Given the description of an element on the screen output the (x, y) to click on. 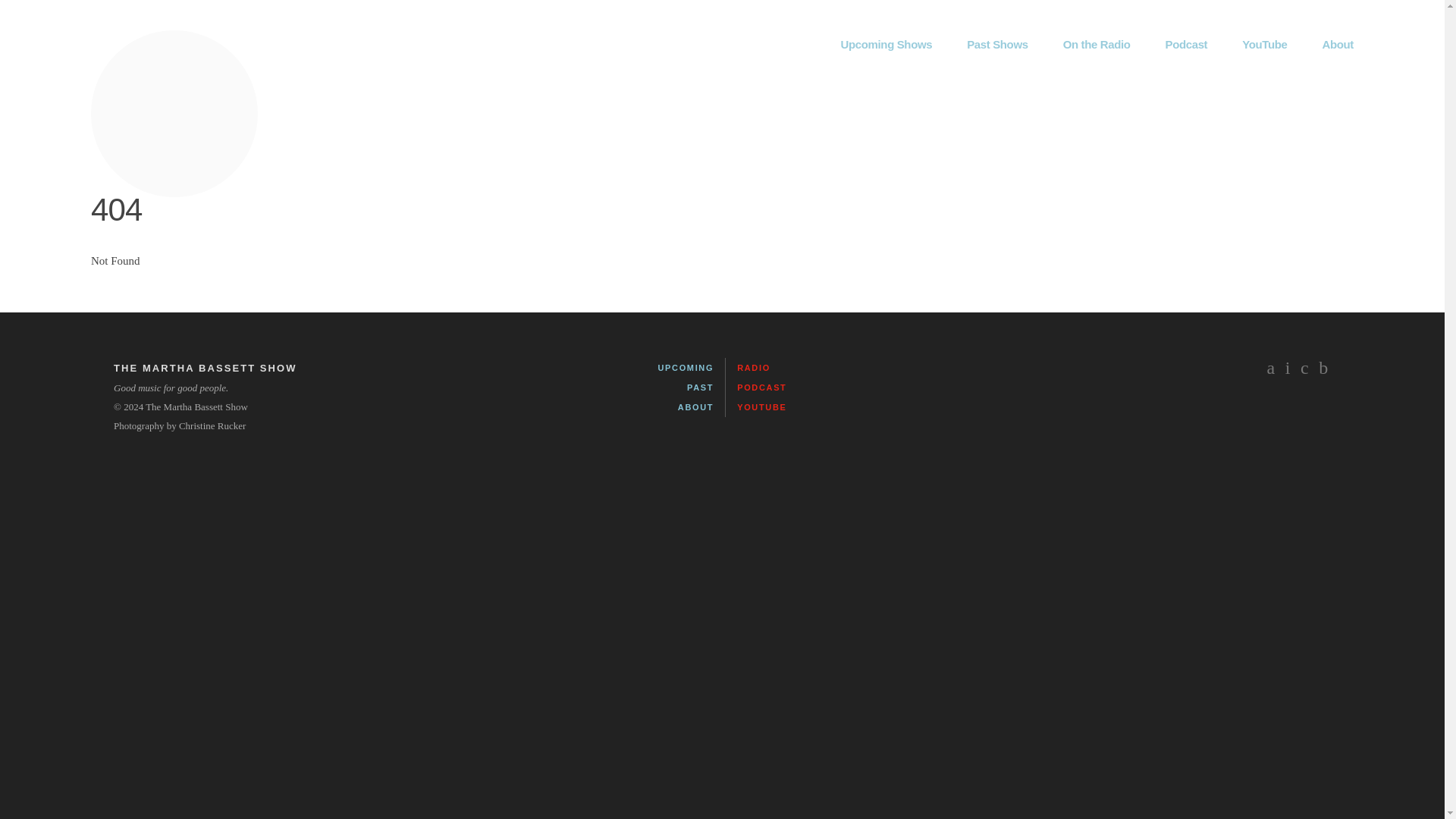
PAST (700, 387)
UPCOMING (685, 367)
PODCAST (761, 387)
ABOUT (695, 406)
On the Radio (1096, 43)
YOUTUBE (761, 406)
Upcoming Shows (887, 43)
Past Shows (996, 43)
RADIO (753, 367)
About (1338, 43)
